Given the description of an element on the screen output the (x, y) to click on. 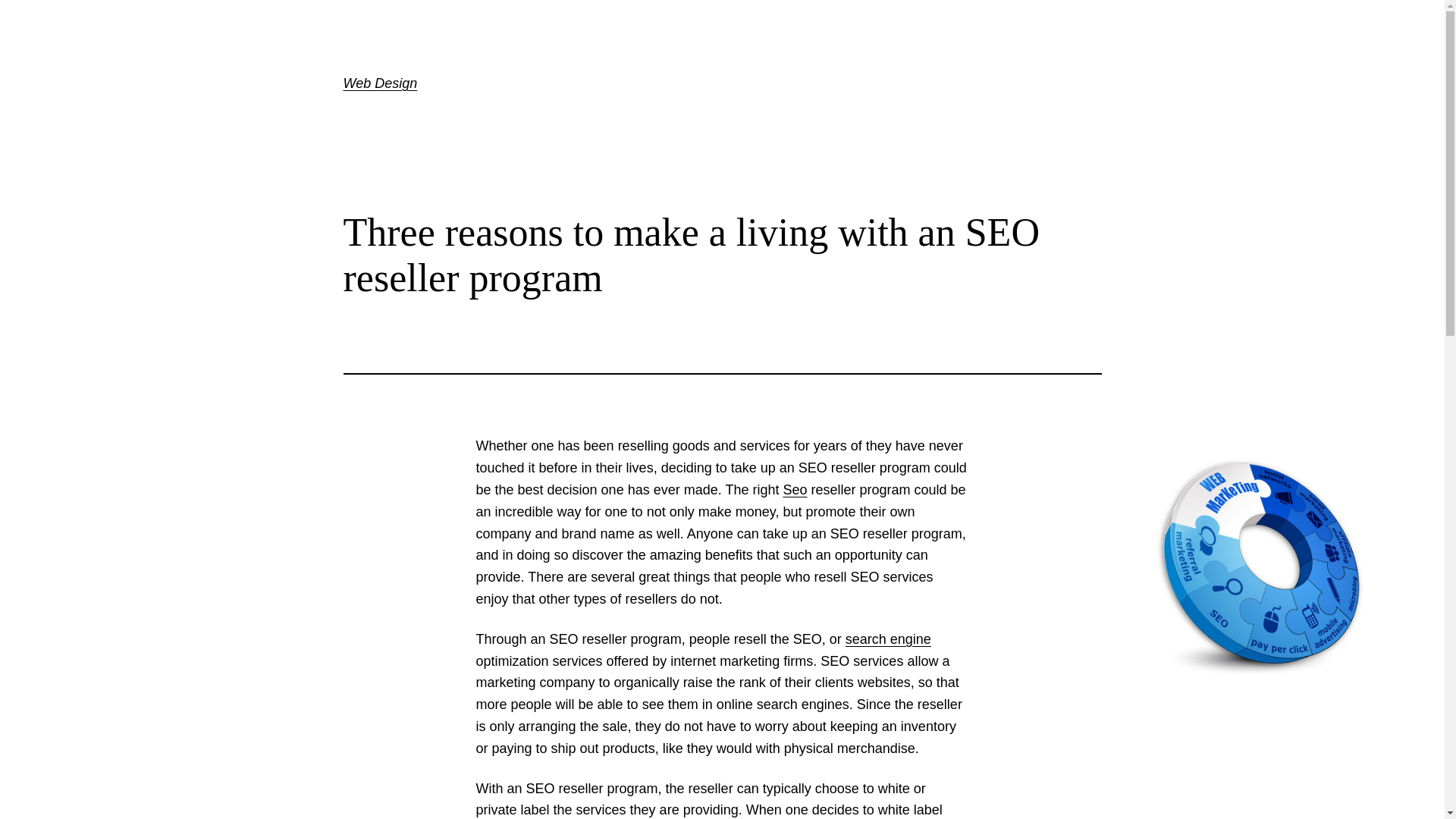
Private label seo (888, 639)
Seo (794, 489)
Web Design (379, 83)
search engine (888, 639)
Seo reseller plans, Seo white label (794, 489)
